Given the description of an element on the screen output the (x, y) to click on. 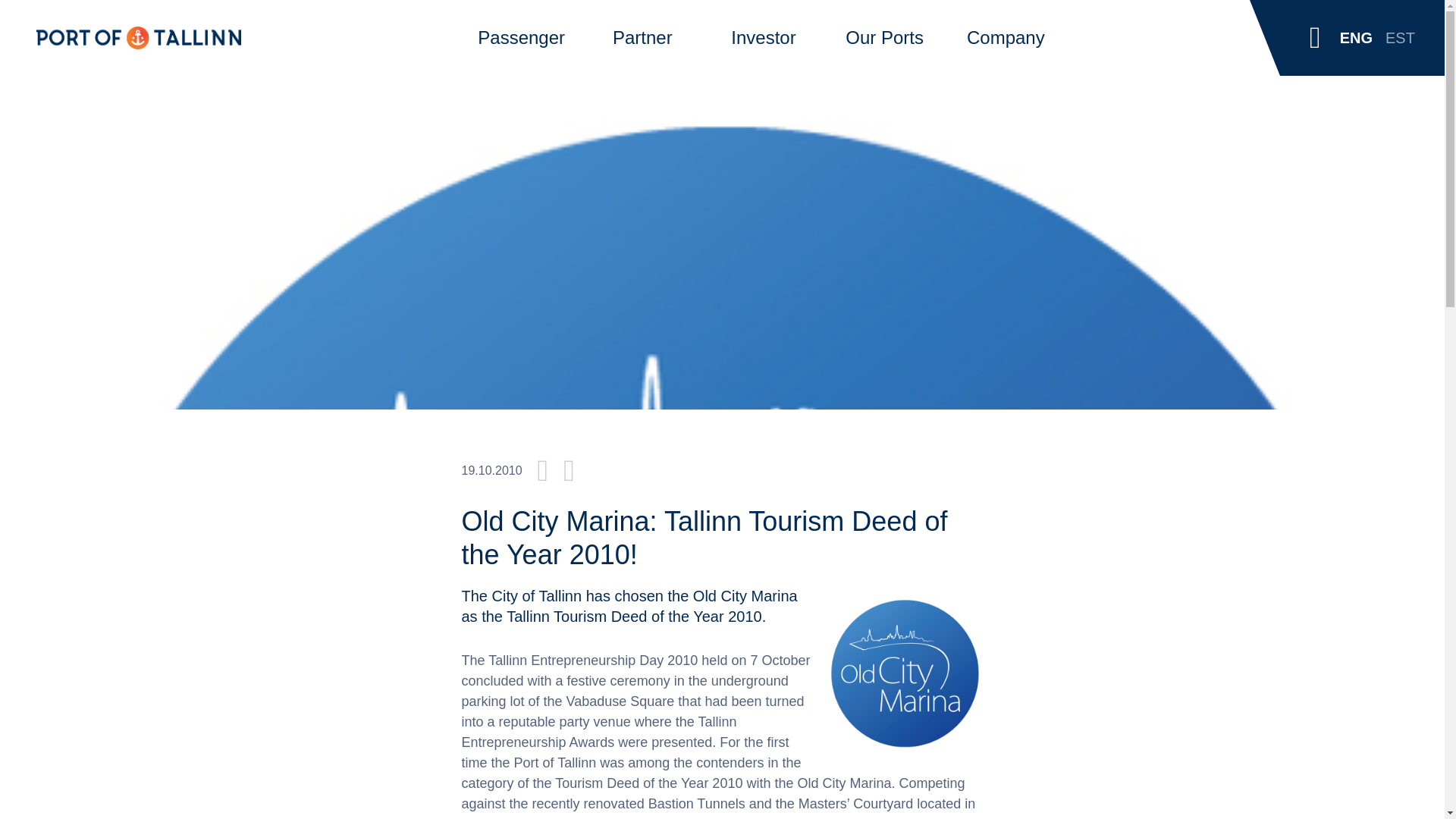
Company (1005, 37)
EST (1400, 37)
Partner (642, 37)
Investor (762, 37)
ENG (1356, 37)
Tallinna sadam (138, 37)
Passenger (520, 37)
Our Ports (884, 37)
